Given the description of an element on the screen output the (x, y) to click on. 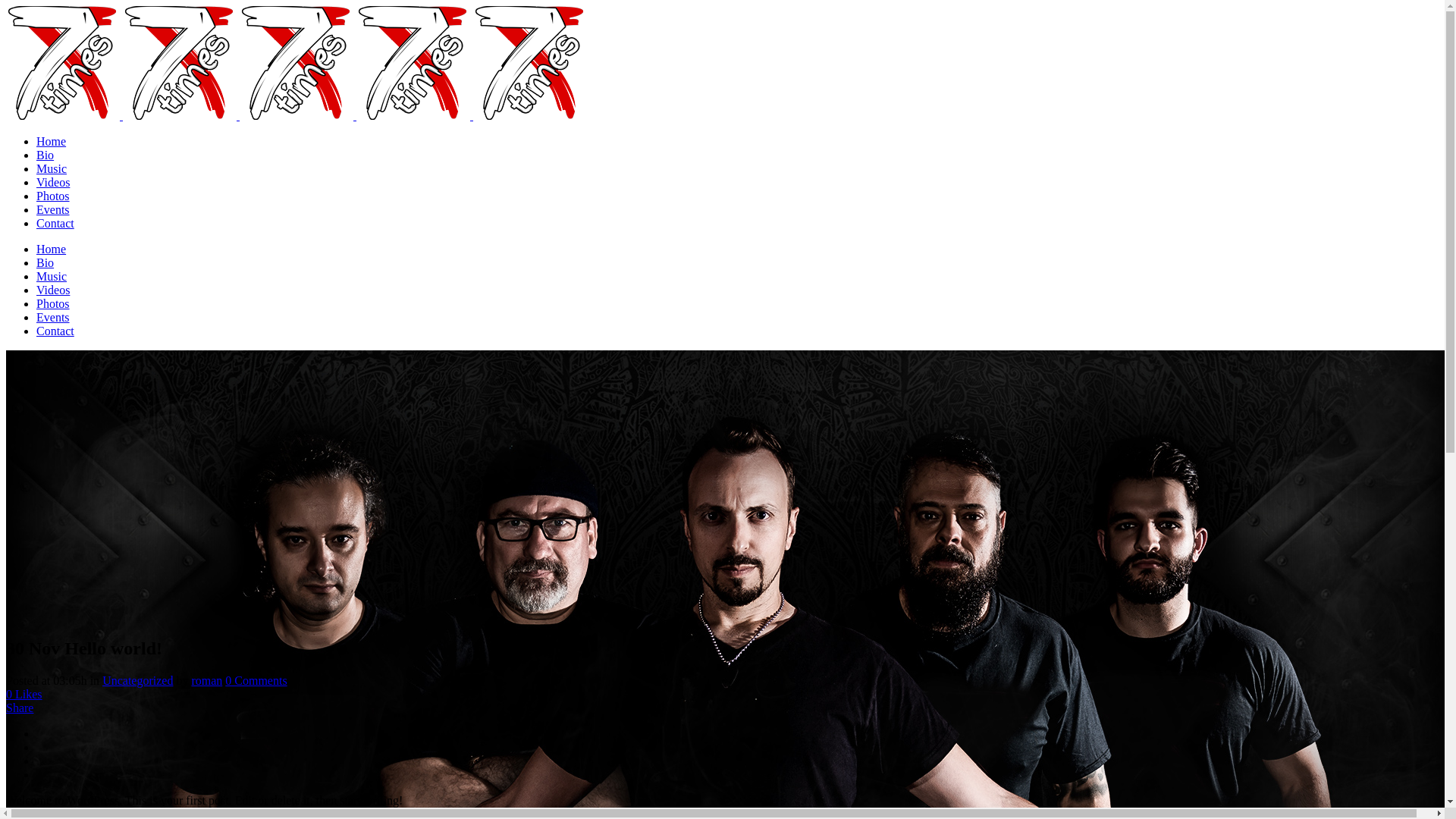
Bio Element type: text (44, 154)
Bio Element type: text (44, 262)
roman Element type: text (206, 680)
Music Element type: text (51, 168)
Home Element type: text (50, 140)
Events Element type: text (52, 316)
0 Likes Element type: text (24, 693)
0 Comments Element type: text (255, 680)
Videos Element type: text (52, 181)
Uncategorized Element type: text (137, 680)
Photos Element type: text (52, 303)
Music Element type: text (51, 275)
Contact Element type: text (55, 330)
Videos Element type: text (52, 289)
Events Element type: text (52, 209)
Home Element type: text (50, 248)
Share Element type: text (19, 707)
Photos Element type: text (52, 195)
Contact Element type: text (55, 222)
